Given the description of an element on the screen output the (x, y) to click on. 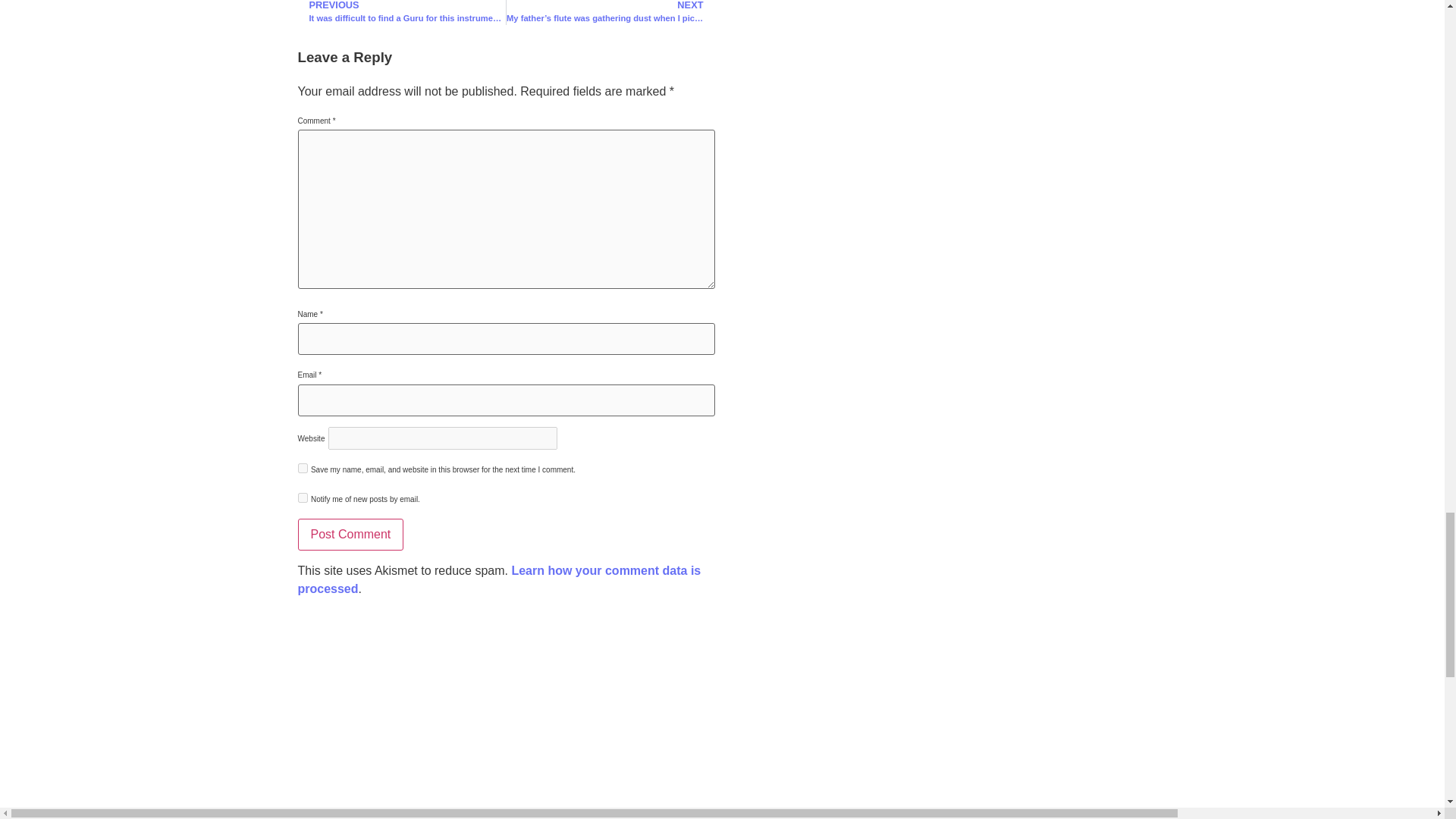
Post Comment (350, 534)
Post Comment (350, 534)
subscribe (302, 497)
Learn how your comment data is processed (498, 579)
yes (302, 468)
